Given the description of an element on the screen output the (x, y) to click on. 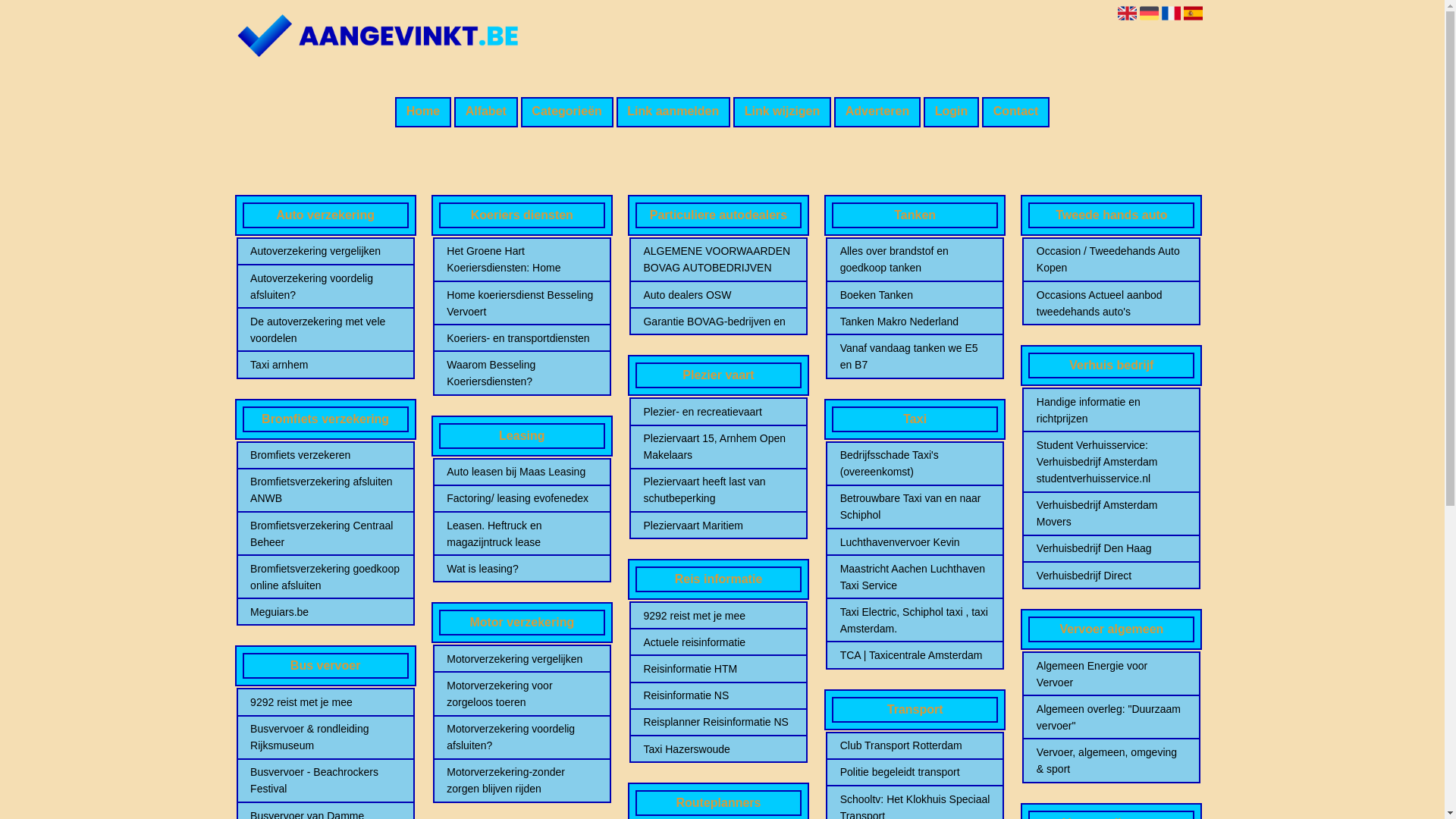
Wat is leasing? Element type: text (521, 568)
Link aanmelden Element type: text (672, 112)
Reisinformatie NS Element type: text (718, 695)
Busvervoer & rondleiding Rijksmuseum Element type: text (325, 736)
Pleziervaart Maritiem Element type: text (718, 525)
Contact Element type: text (1015, 112)
Taxi arnhem Element type: text (325, 364)
Algemeen Energie voor Vervoer Element type: text (1111, 673)
Motorverzekering vergelijken Element type: text (521, 658)
Reisinformatie HTM Element type: text (718, 668)
Club Transport Rotterdam Element type: text (915, 745)
Link wijzigen Element type: text (782, 112)
Autoverzekering voordelig afsluiten? Element type: text (325, 286)
Actuele reisinformatie Element type: text (718, 641)
Leasen. Heftruck en magazijntruck lease Element type: text (521, 533)
9292 reist met je mee Element type: text (325, 701)
Betrouwbare Taxi van en naar Schiphol Element type: text (915, 506)
Occasion / Tweedehands Auto Kopen Element type: text (1111, 259)
Verhuisbedrijf Direct Element type: text (1111, 575)
Vanaf vandaag tanken we E5 en B7 Element type: text (915, 356)
Factoring/ leasing evofenedex Element type: text (521, 497)
De autoverzekering met vele voordelen Element type: text (325, 329)
Verhuisbedrijf Den Haag Element type: text (1111, 547)
Taxi Electric, Schiphol taxi , taxi Amsterdam. Element type: text (915, 620)
Boeken Tanken Element type: text (915, 294)
TCA | Taxicentrale Amsterdam Element type: text (915, 654)
Motorverzekering voordelig afsluiten? Element type: text (521, 736)
Pleziervaart heeft last van schutbeperking Element type: text (718, 489)
Maastricht Aachen Luchthaven Taxi Service Element type: text (915, 576)
Alles over brandstof en goedkoop tanken Element type: text (915, 259)
Luchthavenvervoer Kevin Element type: text (915, 541)
Garantie BOVAG-bedrijven en Element type: text (718, 321)
Alfabet Element type: text (485, 112)
Occasions Actueel aanbod tweedehands auto's Element type: text (1111, 303)
Waarom Besseling Koeriersdiensten? Element type: text (521, 372)
Algemeen overleg: "Duurzaam vervoer" Element type: text (1111, 717)
Tanken Makro Nederland Element type: text (915, 321)
Login Element type: text (951, 112)
Het Groene Hart Koeriersdiensten: Home Element type: text (521, 259)
Bromfiets verzekeren Element type: text (325, 454)
Home koeriersdienst Besseling Vervoert Element type: text (521, 303)
ALGEMENE VOORWAARDEN BOVAG AUTOBEDRIJVEN Element type: text (718, 259)
Busvervoer - Beachrockers Festival Element type: text (325, 780)
Reisplanner Reisinformatie NS Element type: text (718, 721)
Bromfietsverzekering goedkoop online afsluiten Element type: text (325, 576)
Taxi Hazerswoude Element type: text (718, 748)
Handige informatie en richtprijzen Element type: text (1111, 409)
Motorverzekering voor zorgeloos toeren Element type: text (521, 693)
Auto dealers OSW Element type: text (718, 294)
9292 reist met je mee Element type: text (718, 615)
Plezier- en recreatievaart Element type: text (718, 411)
Bromfietsverzekering Centraal Beheer Element type: text (325, 533)
Adverteren Element type: text (877, 112)
Autoverzekering vergelijken Element type: text (325, 250)
Motorverzekering-zonder zorgen blijven rijden Element type: text (521, 780)
Verhuisbedrijf Amsterdam Movers Element type: text (1111, 513)
Pleziervaart 15, Arnhem Open Makelaars Element type: text (718, 446)
Vervoer, algemeen, omgeving & sport Element type: text (1111, 760)
Auto leasen bij Maas Leasing Element type: text (521, 471)
Koeriers- en transportdiensten Element type: text (521, 337)
Meguiars.be Element type: text (325, 611)
Politie begeleidt transport Element type: text (915, 771)
Bedrijfsschade Taxi's (overeenkomst) Element type: text (915, 463)
Bromfietsverzekering afsluiten ANWB Element type: text (325, 489)
Home Element type: text (423, 112)
